Given the description of an element on the screen output the (x, y) to click on. 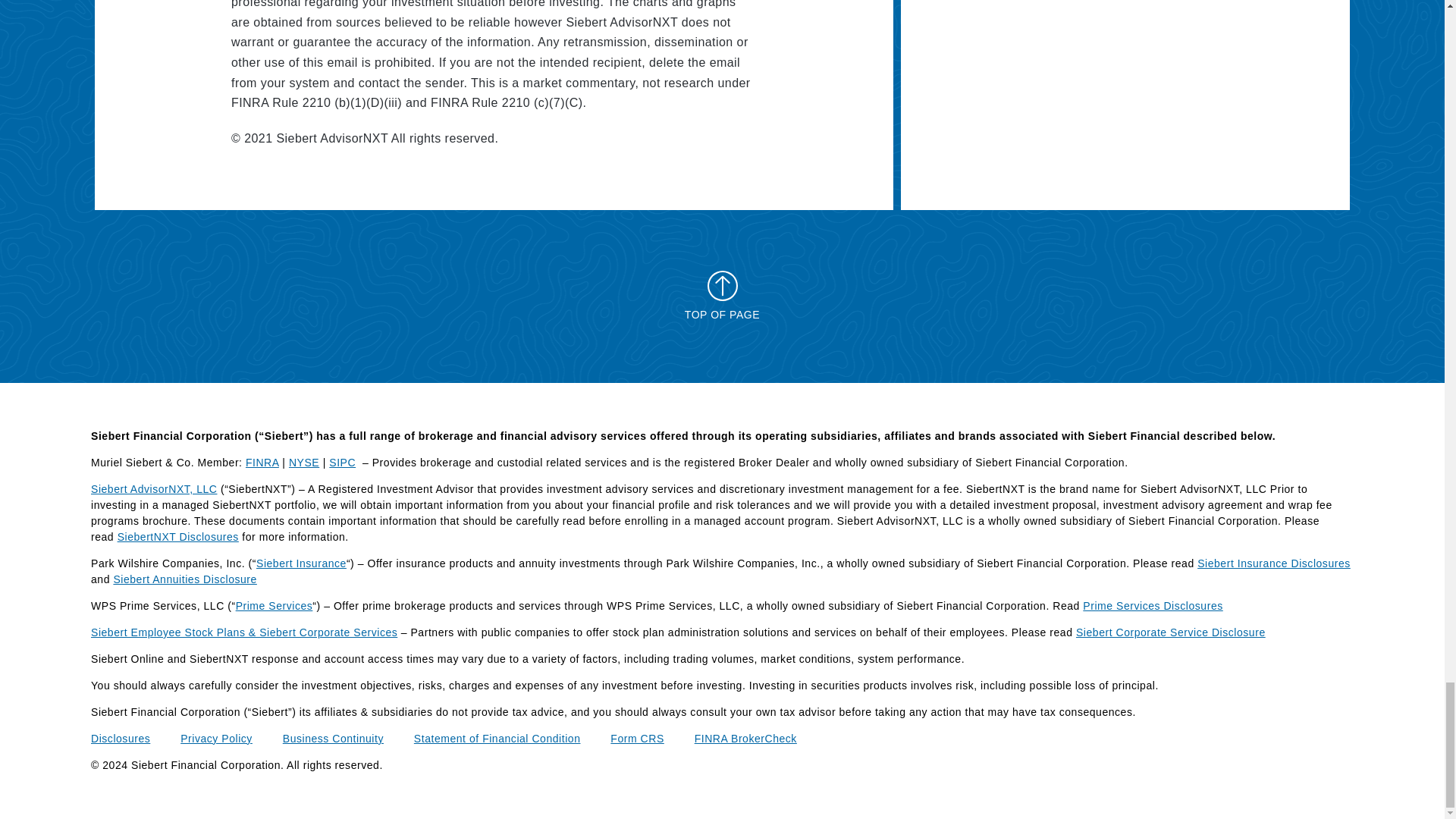
TOP OF PAGE (722, 296)
Siebert Corporate Service Disclosure (1170, 632)
NYSE (303, 462)
Siebert Annuities Disclosure (184, 579)
FINRA (262, 462)
Siebert AdvisorNXT, LLC (153, 489)
Siebert Insurance (301, 563)
Prime Services (274, 605)
SIPC (342, 462)
Privacy Policy (215, 738)
Siebert Insurance Disclosures (1273, 563)
Disclosures (119, 738)
Prime Services Disclosures (1153, 605)
Business Continuity (333, 738)
SiebertNXT Disclosures (177, 536)
